Given the description of an element on the screen output the (x, y) to click on. 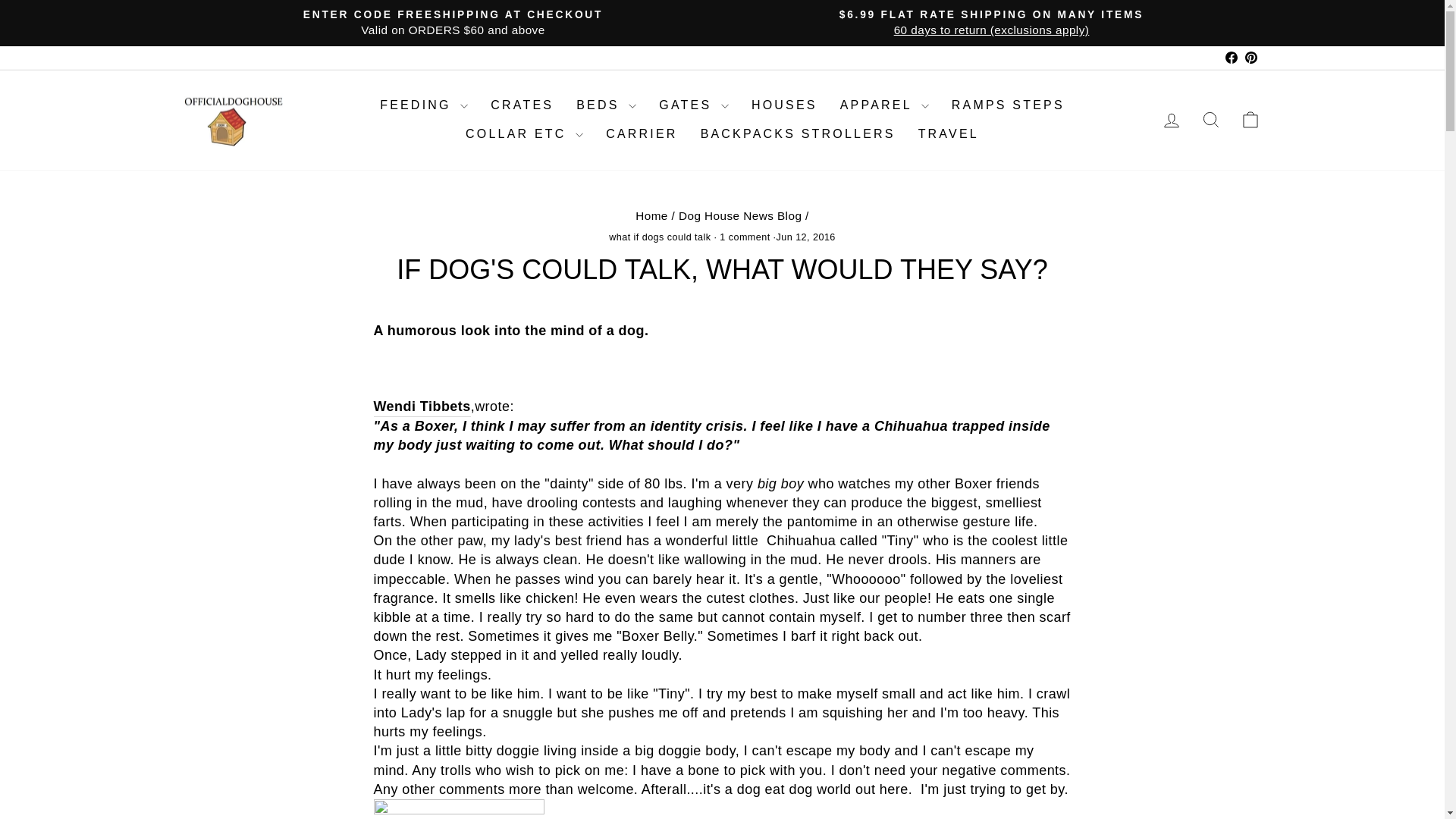
ACCOUNT (1170, 120)
ICON-SEARCH (1210, 119)
Back to the frontpage (651, 215)
ICON-BAG-MINIMAL (1249, 119)
